Given the description of an element on the screen output the (x, y) to click on. 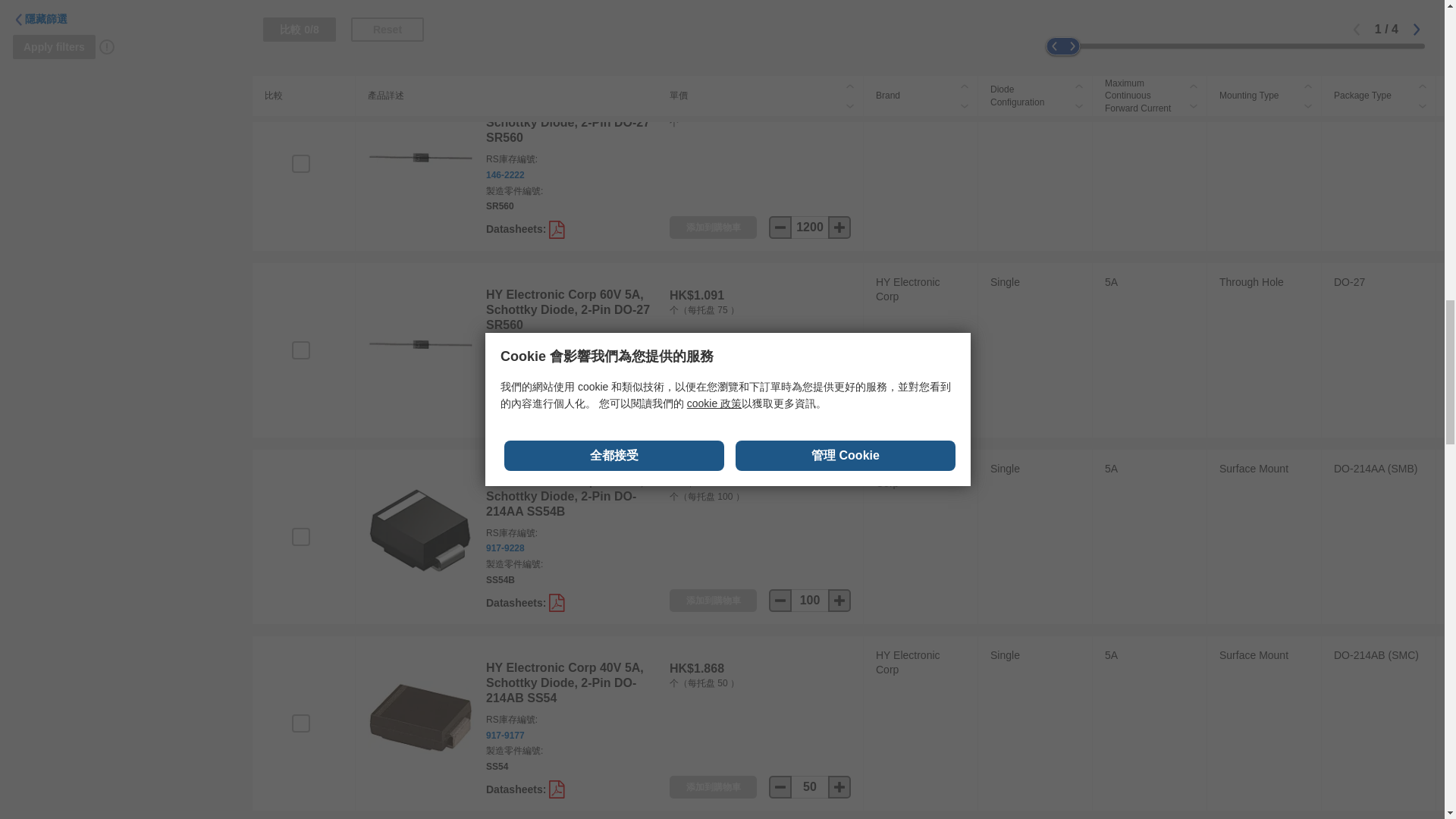
on (299, 163)
on (299, 536)
on (299, 350)
75 (810, 413)
3000 (810, 39)
1200 (810, 227)
